Given the description of an element on the screen output the (x, y) to click on. 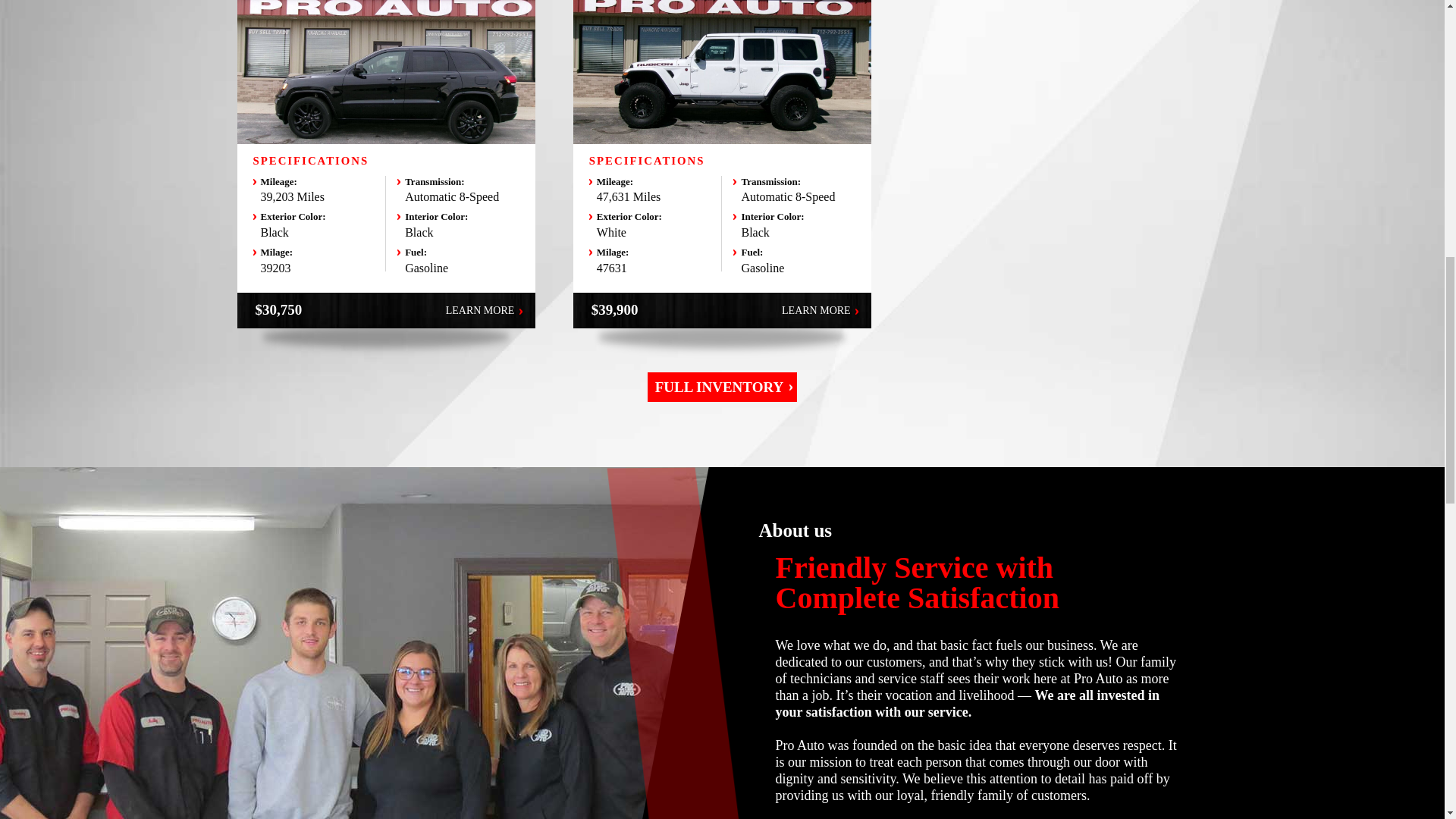
LEARN MORE (820, 310)
FULL INVENTORY (722, 387)
LEARN MORE (483, 310)
